Given the description of an element on the screen output the (x, y) to click on. 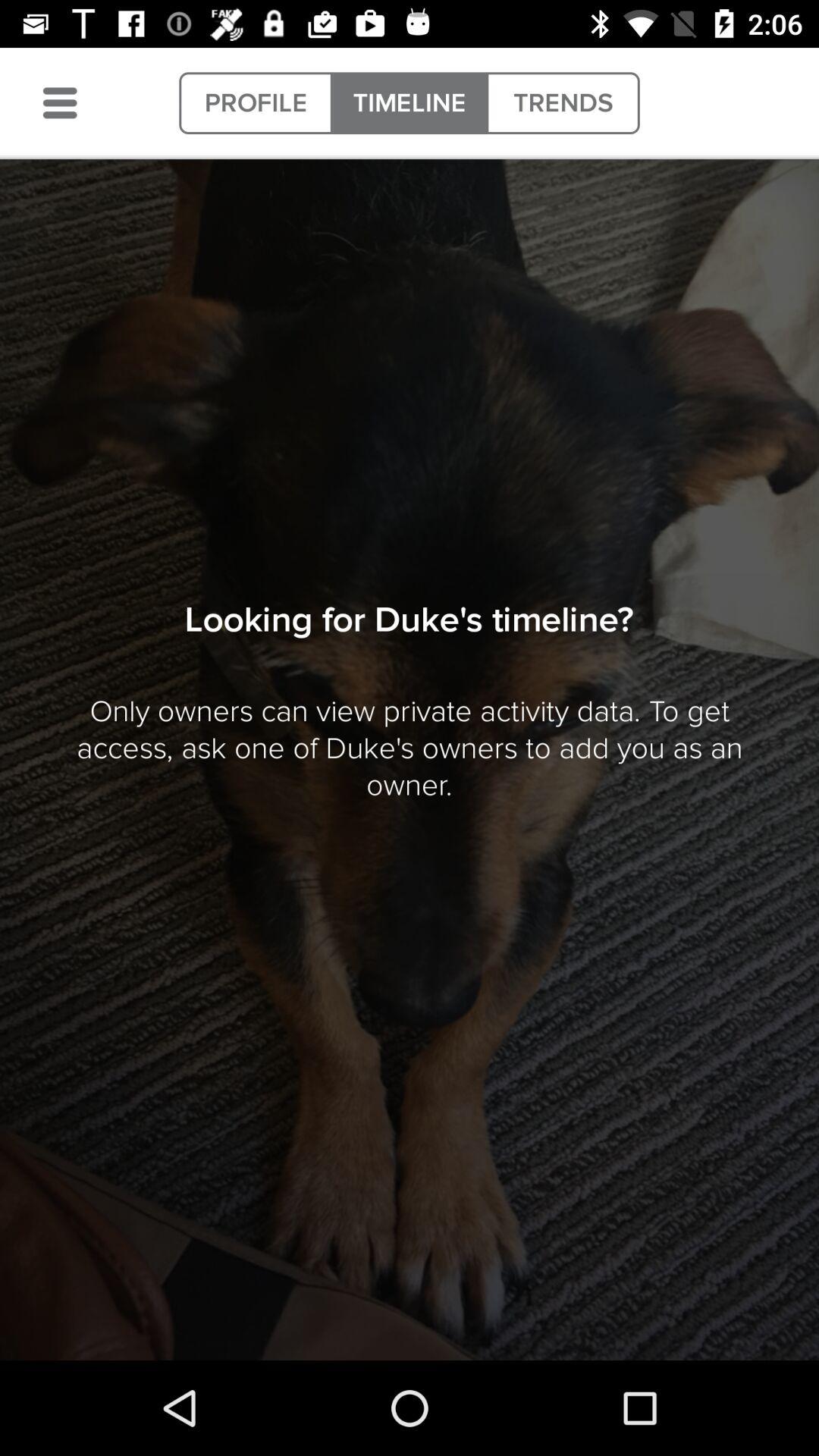
toggle menu (60, 103)
